Given the description of an element on the screen output the (x, y) to click on. 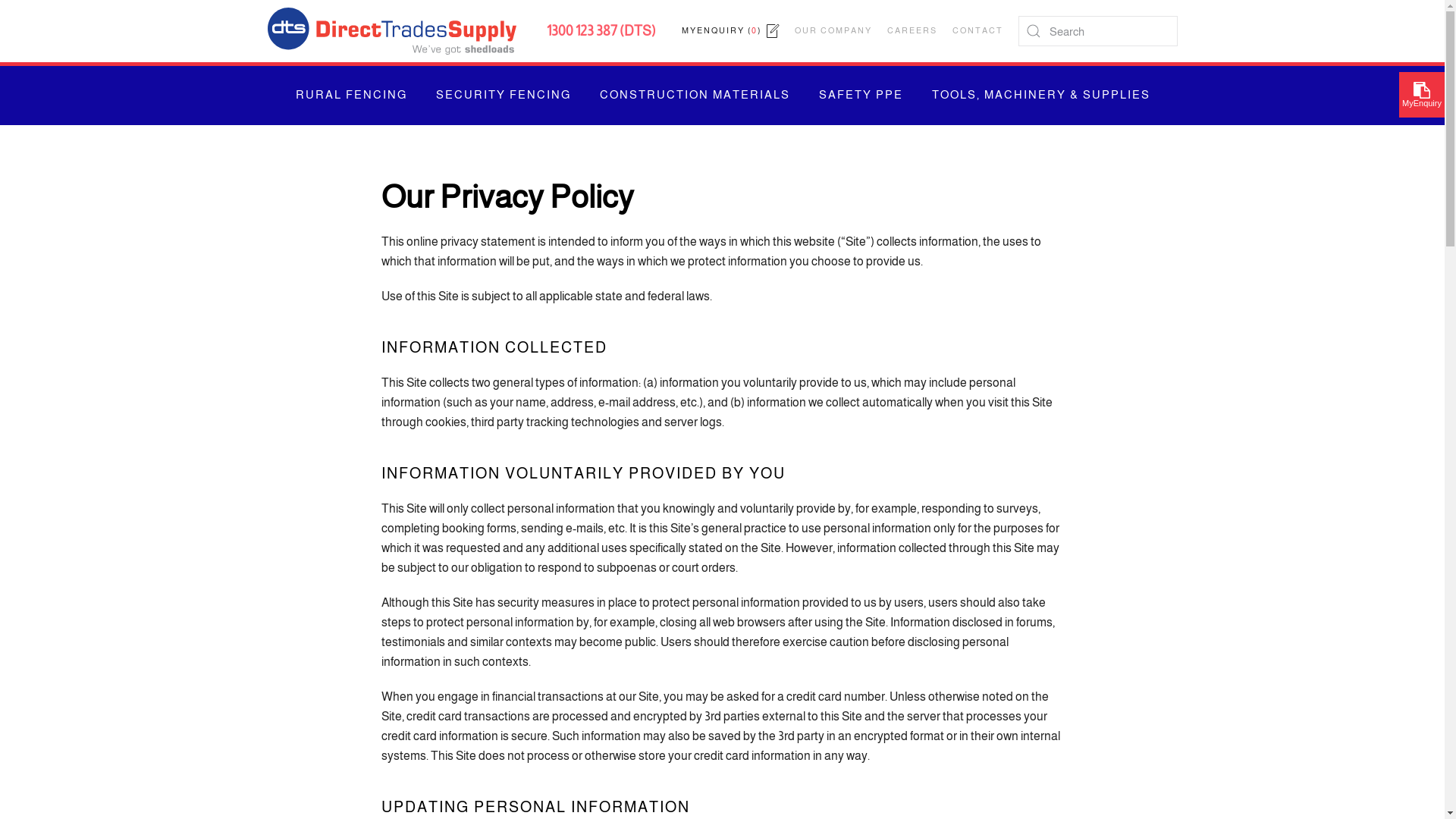
CONTACT Element type: text (977, 30)
OUR COMPANY Element type: text (833, 30)
MYENQUIRY (0) Element type: text (729, 30)
RURAL FENCING Element type: text (354, 95)
SAFETY PPE Element type: text (864, 95)
MyEnquiry Element type: text (1421, 94)
CAREERS Element type: text (912, 30)
1300 123 387 (DTS) Element type: text (600, 29)
CONSTRUCTION MATERIALS Element type: text (696, 95)
SECURITY FENCING Element type: text (505, 95)
TOOLS, MACHINERY & SUPPLIES Element type: text (1041, 95)
